Given the description of an element on the screen output the (x, y) to click on. 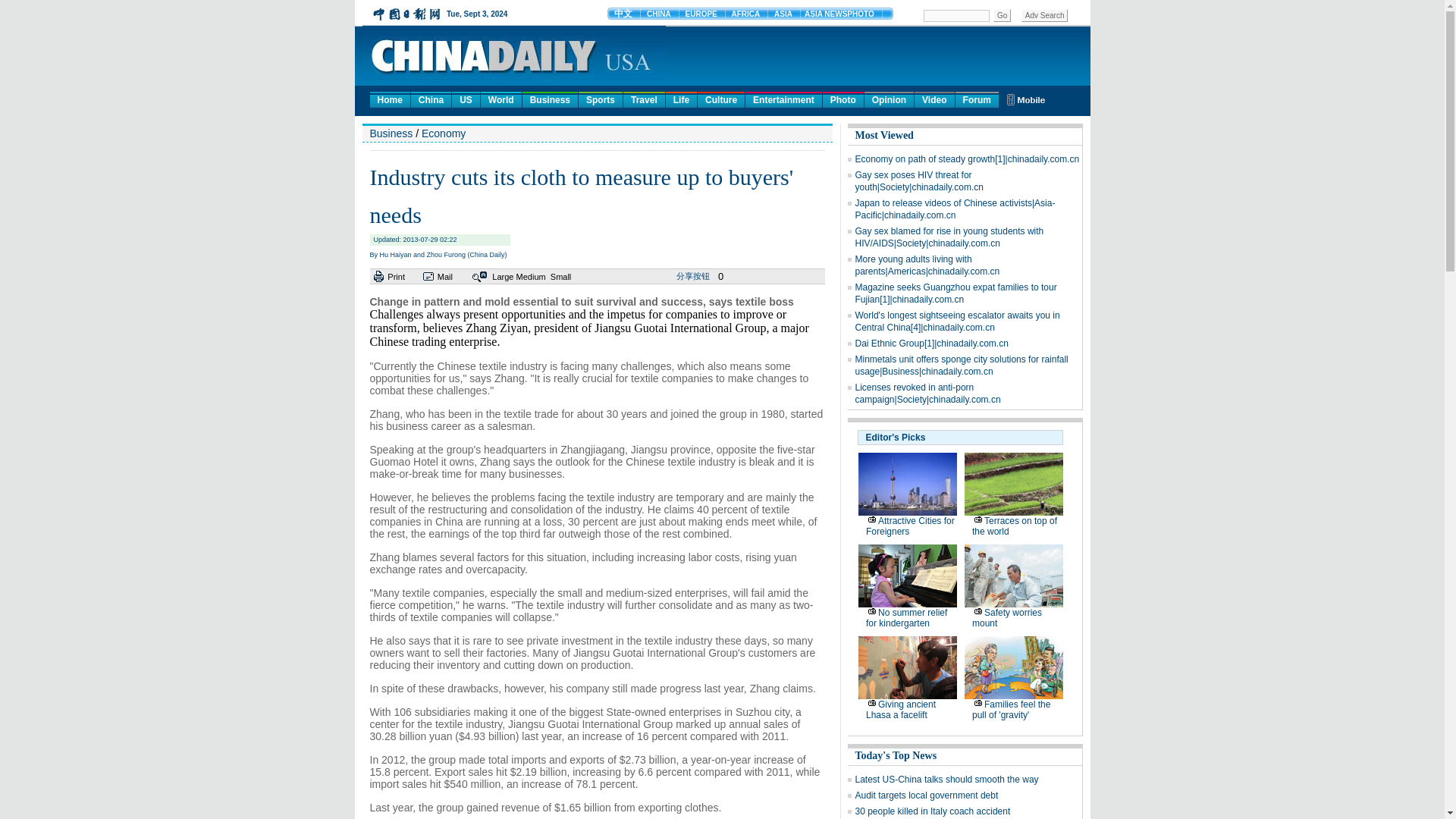
China (430, 99)
Sports (600, 99)
US (465, 99)
World (500, 99)
Business (550, 99)
Home (389, 99)
Travel (644, 99)
